Given the description of an element on the screen output the (x, y) to click on. 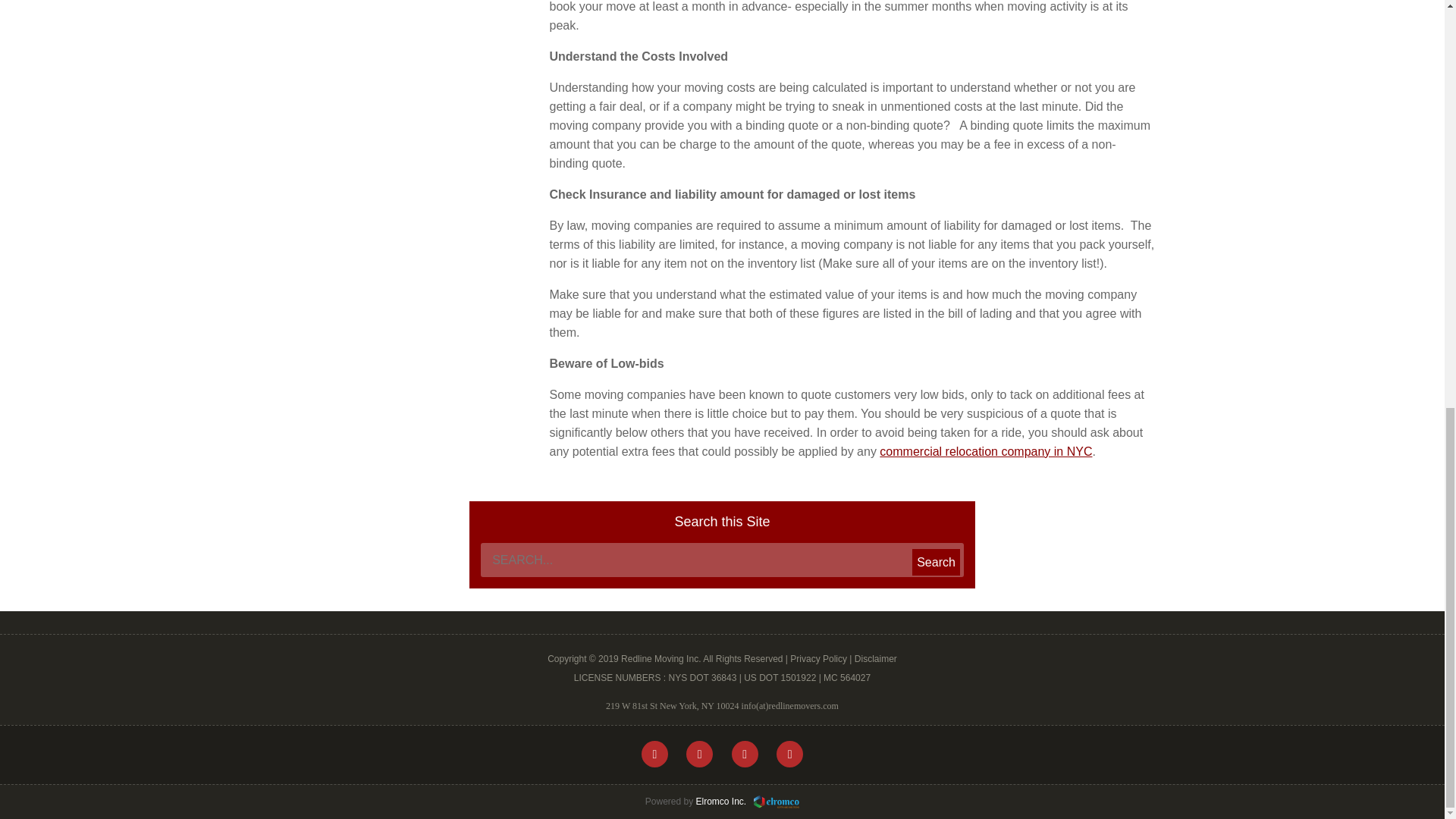
We are on linkedin (789, 754)
commercial relocation company in NYC (985, 451)
We are on facebook (655, 754)
We are on twitter (699, 754)
Search (935, 560)
We are on google plus (745, 754)
